Given the description of an element on the screen output the (x, y) to click on. 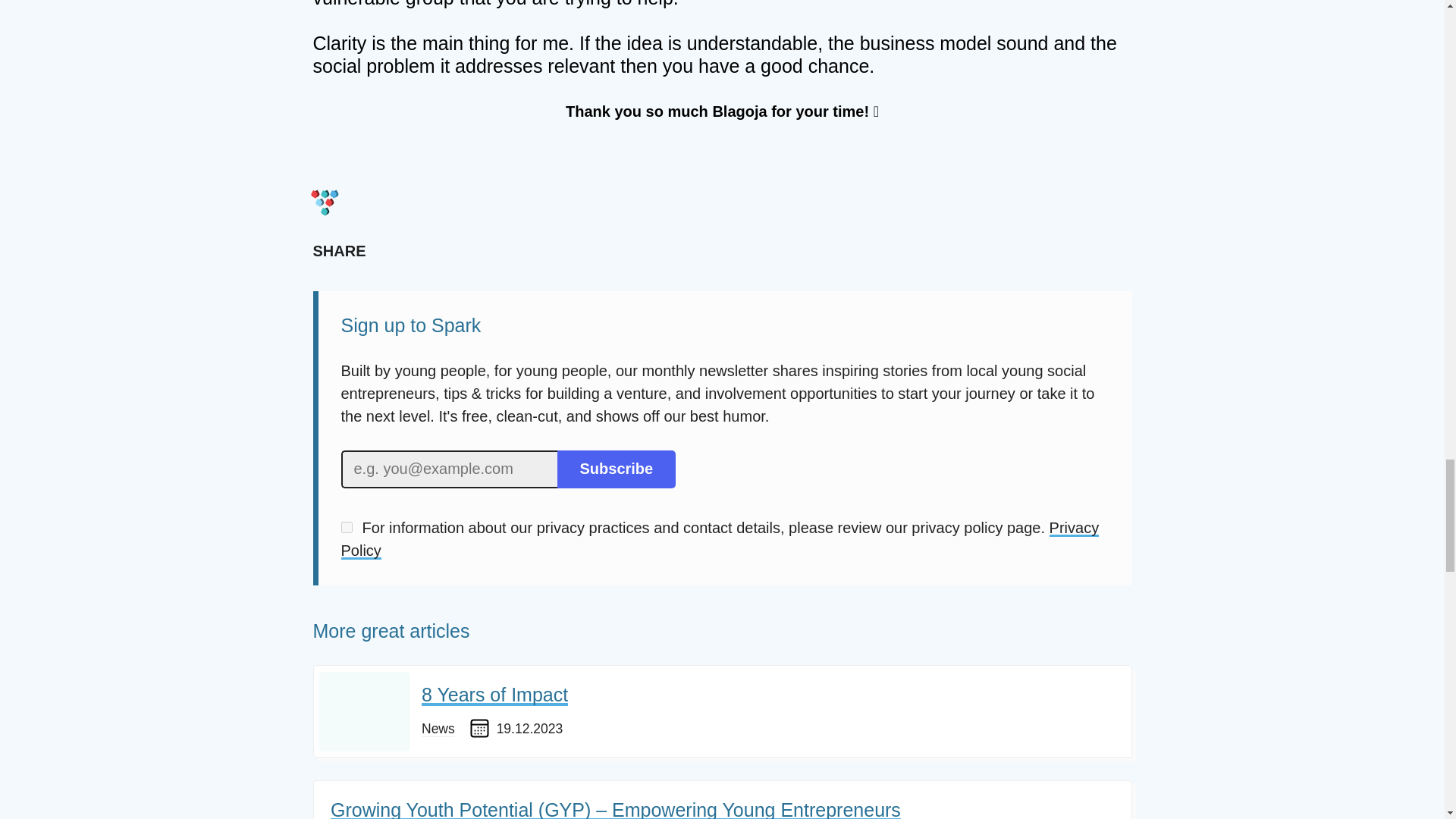
News (438, 729)
8 Years of Impact (494, 694)
Click to share on Facebook (431, 250)
Click to share on LinkedIn (392, 250)
Subscribe (615, 469)
Y (346, 527)
Click to email a link to a friend (507, 250)
Subscribe (615, 469)
Click to share on Twitter (469, 250)
Privacy Policy (719, 539)
